Given the description of an element on the screen output the (x, y) to click on. 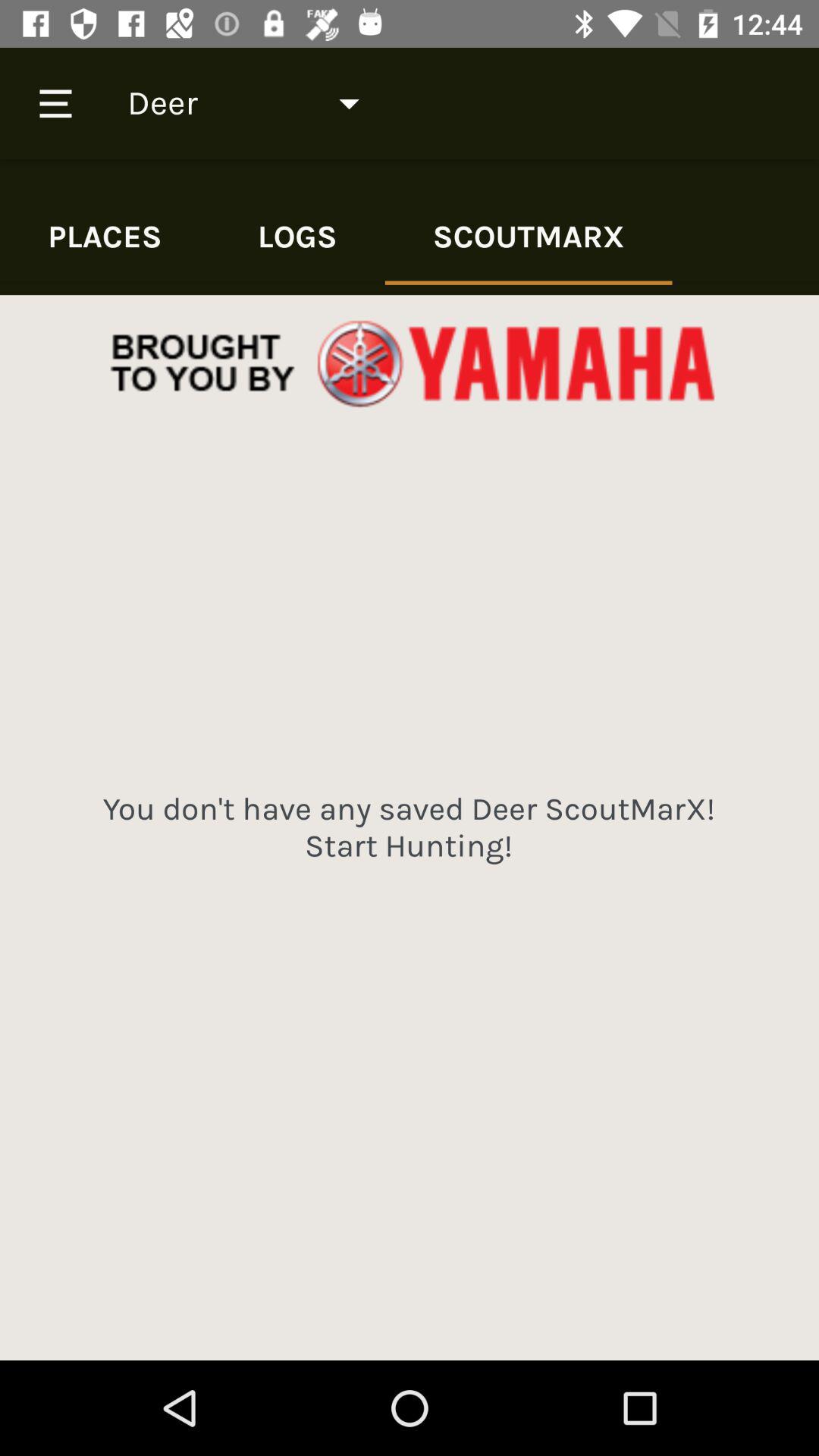
sponsor banner (409, 364)
